Given the description of an element on the screen output the (x, y) to click on. 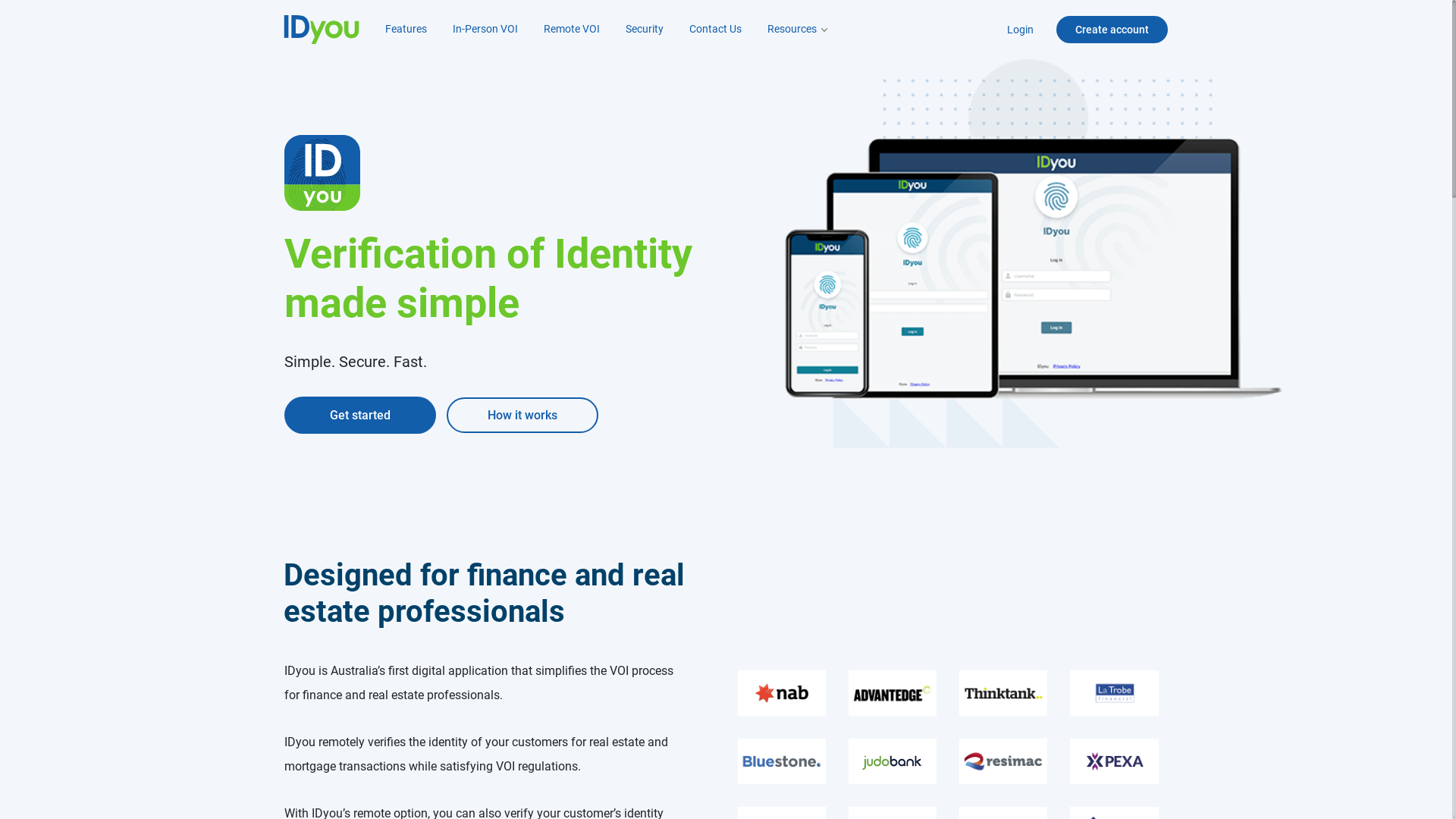
Remote VOI Element type: text (570, 28)
Features Element type: text (405, 28)
Resources  Element type: text (797, 28)
Create account Element type: text (1111, 29)
Contact Us Element type: text (714, 28)
How it works Element type: text (521, 415)
Get started Element type: text (359, 414)
Security Element type: text (643, 28)
In-Person VOI Element type: text (484, 28)
Login Element type: text (1031, 29)
